Given the description of an element on the screen output the (x, y) to click on. 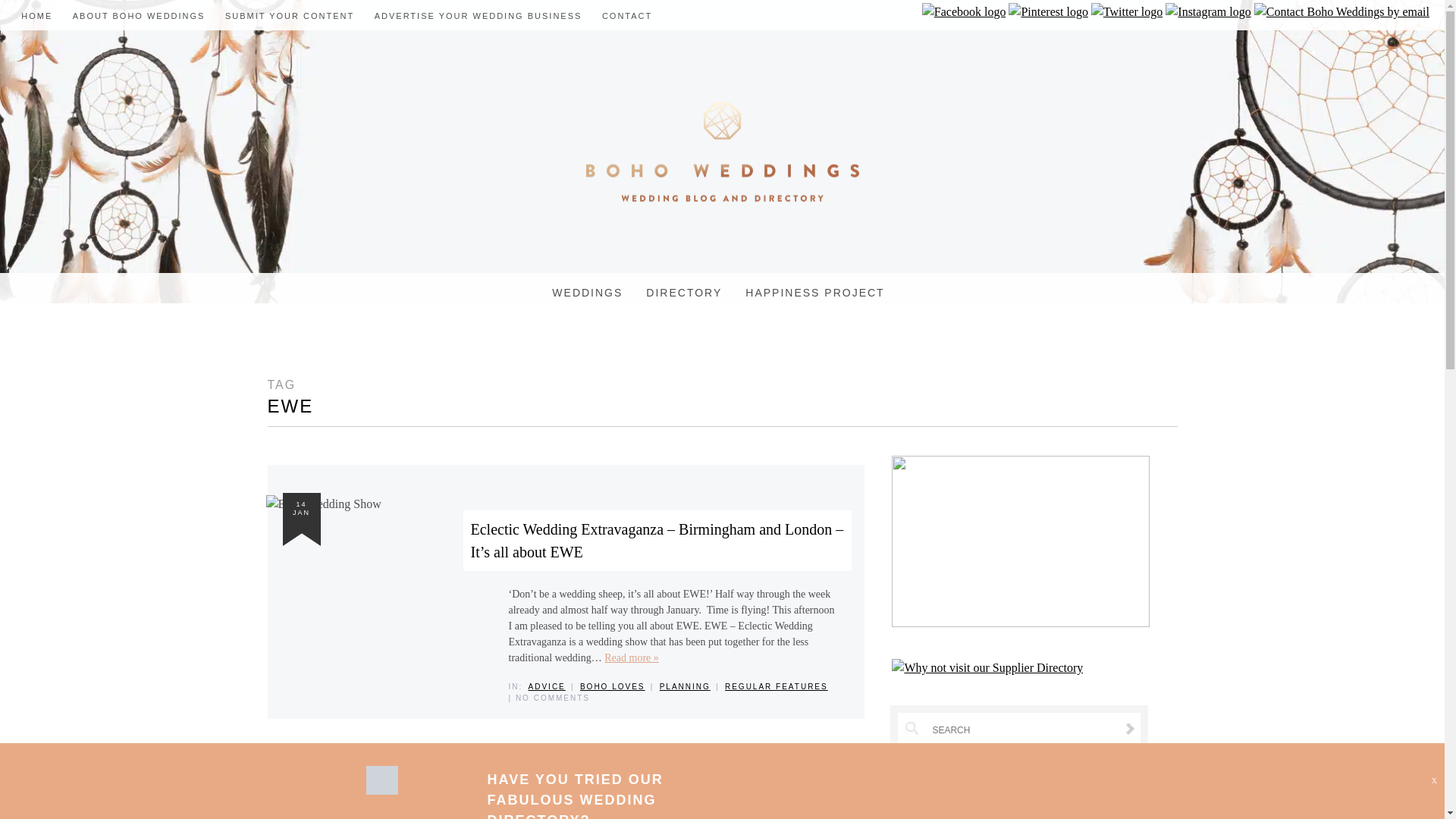
HOME (36, 16)
Why not visit our Supplier Directory (987, 668)
CONTACT (627, 16)
Have you tried our fabulous wedding directory? (381, 789)
HAPPINESS PROJECT (815, 292)
ADVERTISE YOUR WEDDING BUSINESS (478, 16)
ABOUT BOHO WEDDINGS (138, 16)
Have you tried our fabulous wedding directory? (574, 795)
SUBMIT YOUR CONTENT (290, 16)
X (1434, 780)
WEDDINGS (587, 292)
DIRECTORY (684, 292)
